Given the description of an element on the screen output the (x, y) to click on. 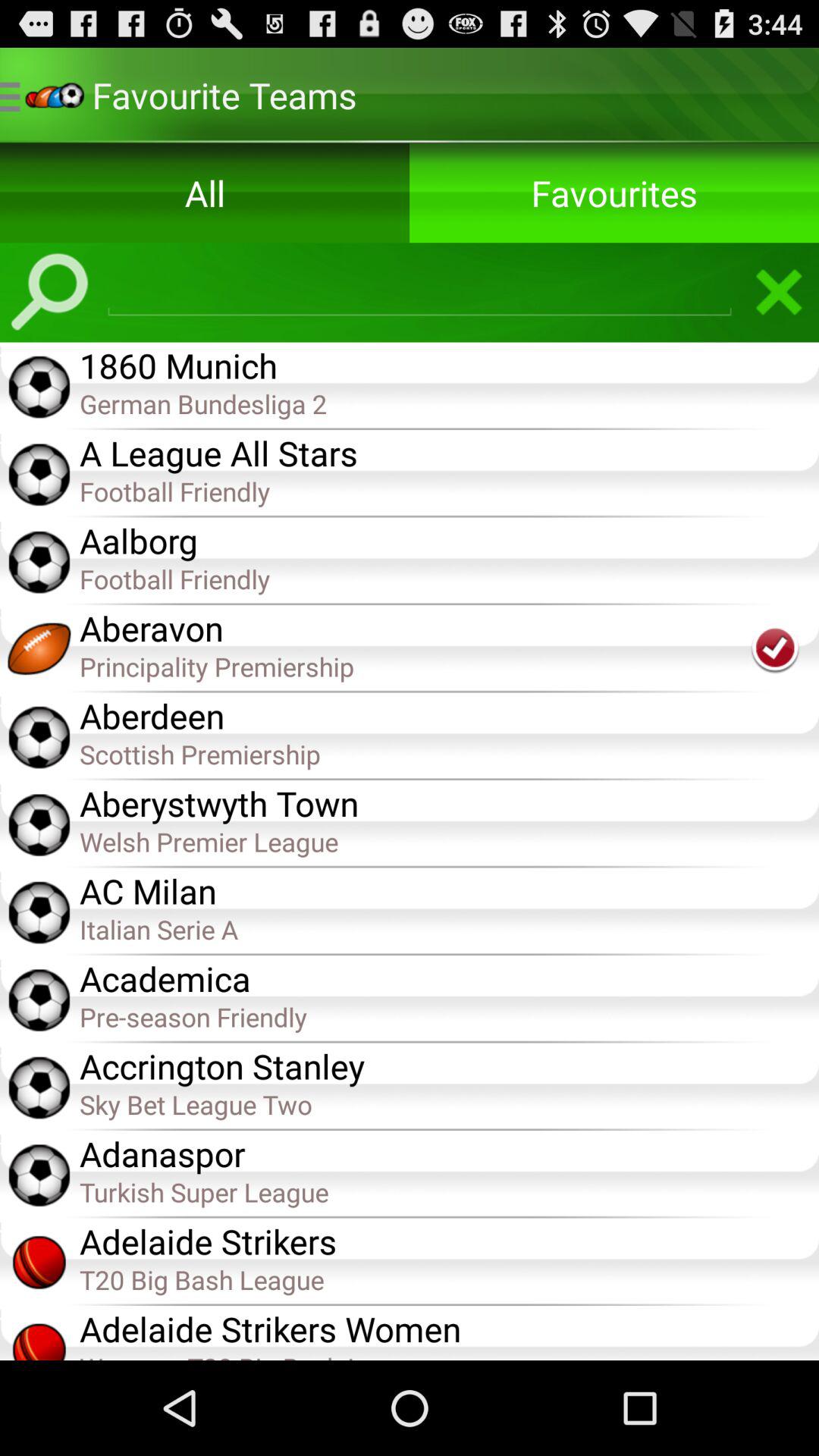
turn off the item below the ac milan app (449, 928)
